Given the description of an element on the screen output the (x, y) to click on. 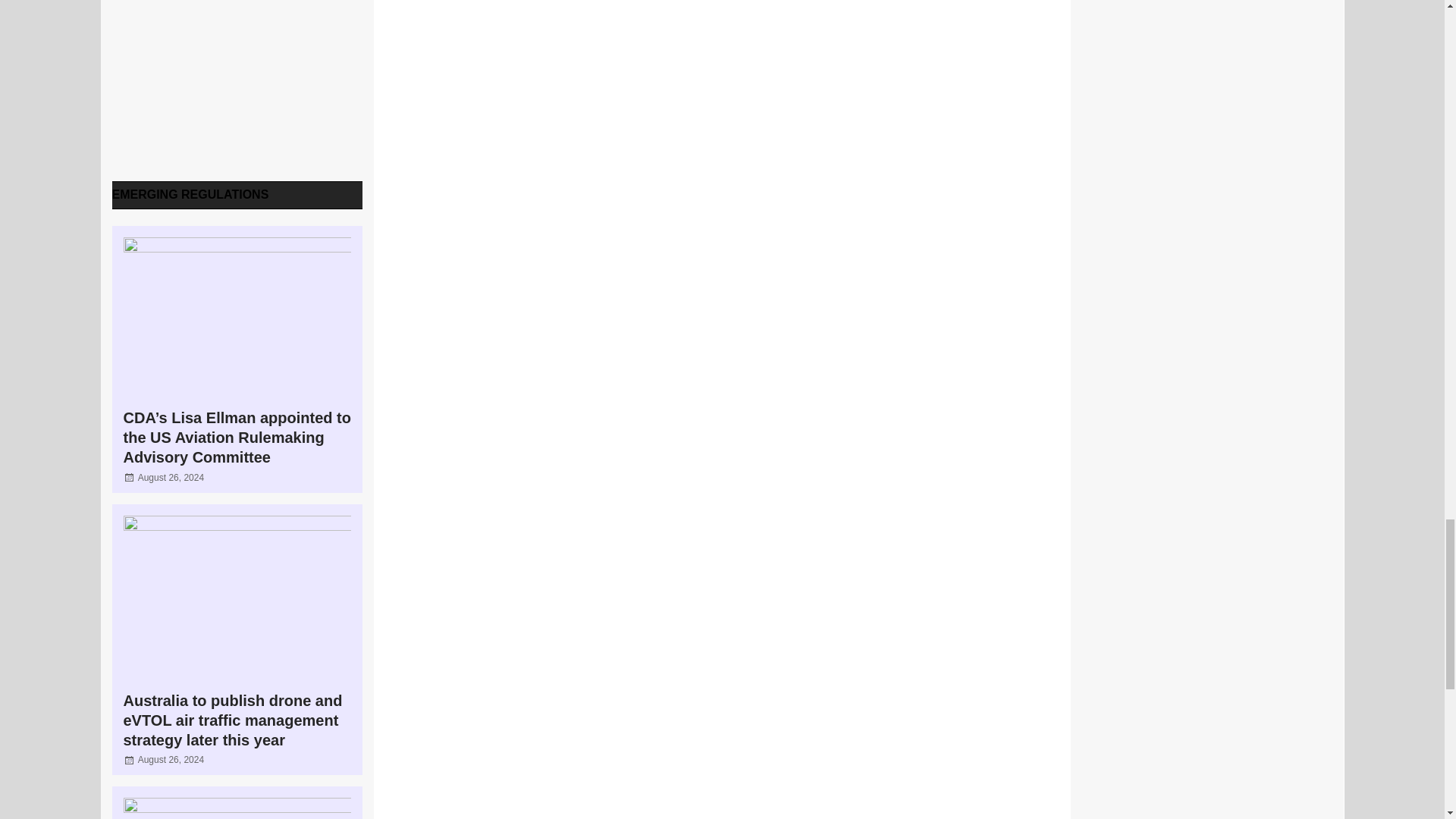
12:02 pm (170, 759)
View all posts from category Emerging regulations (190, 194)
7:25 pm (170, 476)
